Given the description of an element on the screen output the (x, y) to click on. 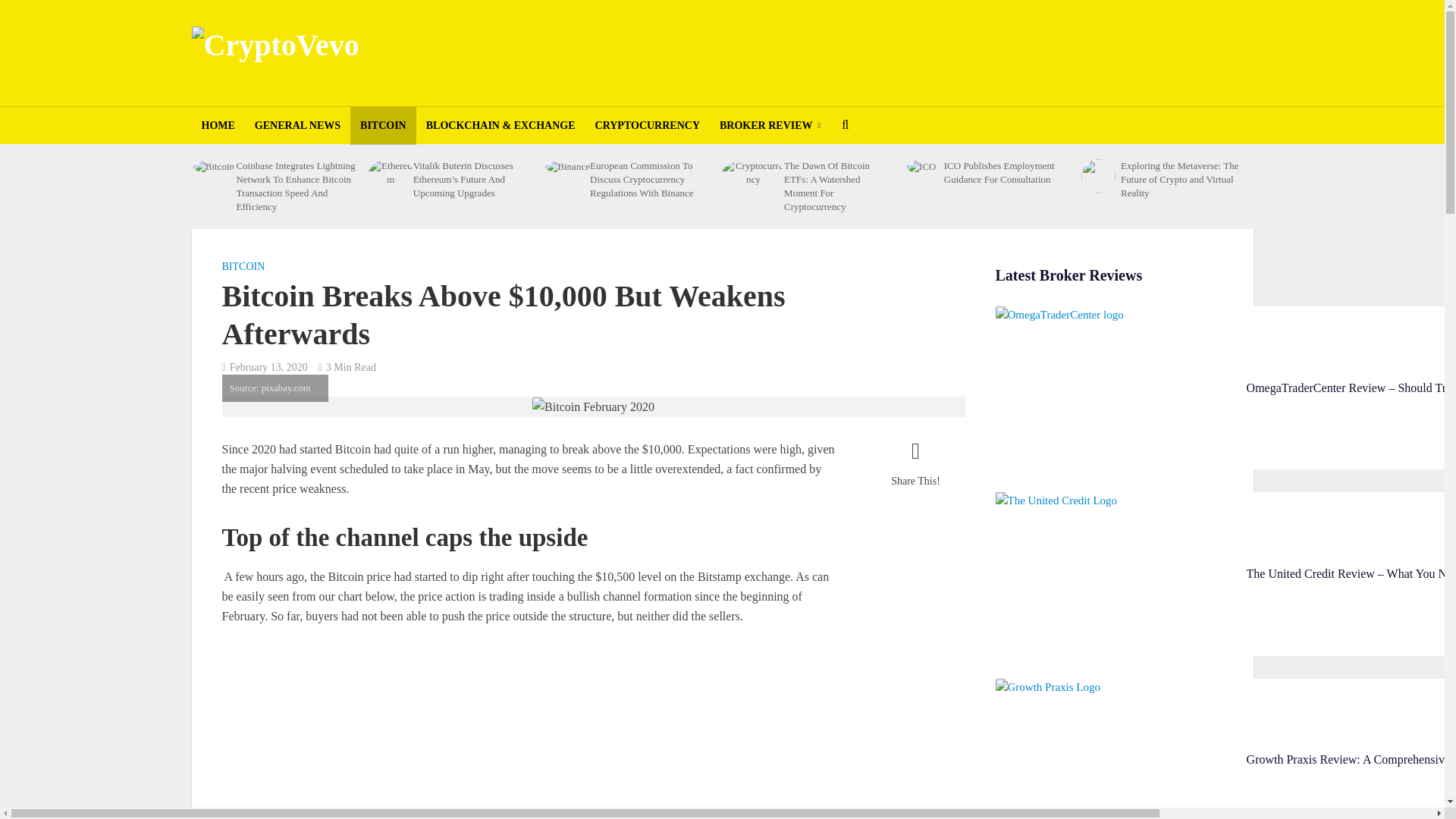
BITCOIN (383, 125)
CRYPTOCURRENCY (647, 125)
HOME (217, 125)
ICO Publishes Employment Guidance For Consultation (921, 165)
GENERAL NEWS (297, 125)
BROKER REVIEW (769, 125)
ICO Publishes Employment Guidance For Consultation (1003, 172)
